Given the description of an element on the screen output the (x, y) to click on. 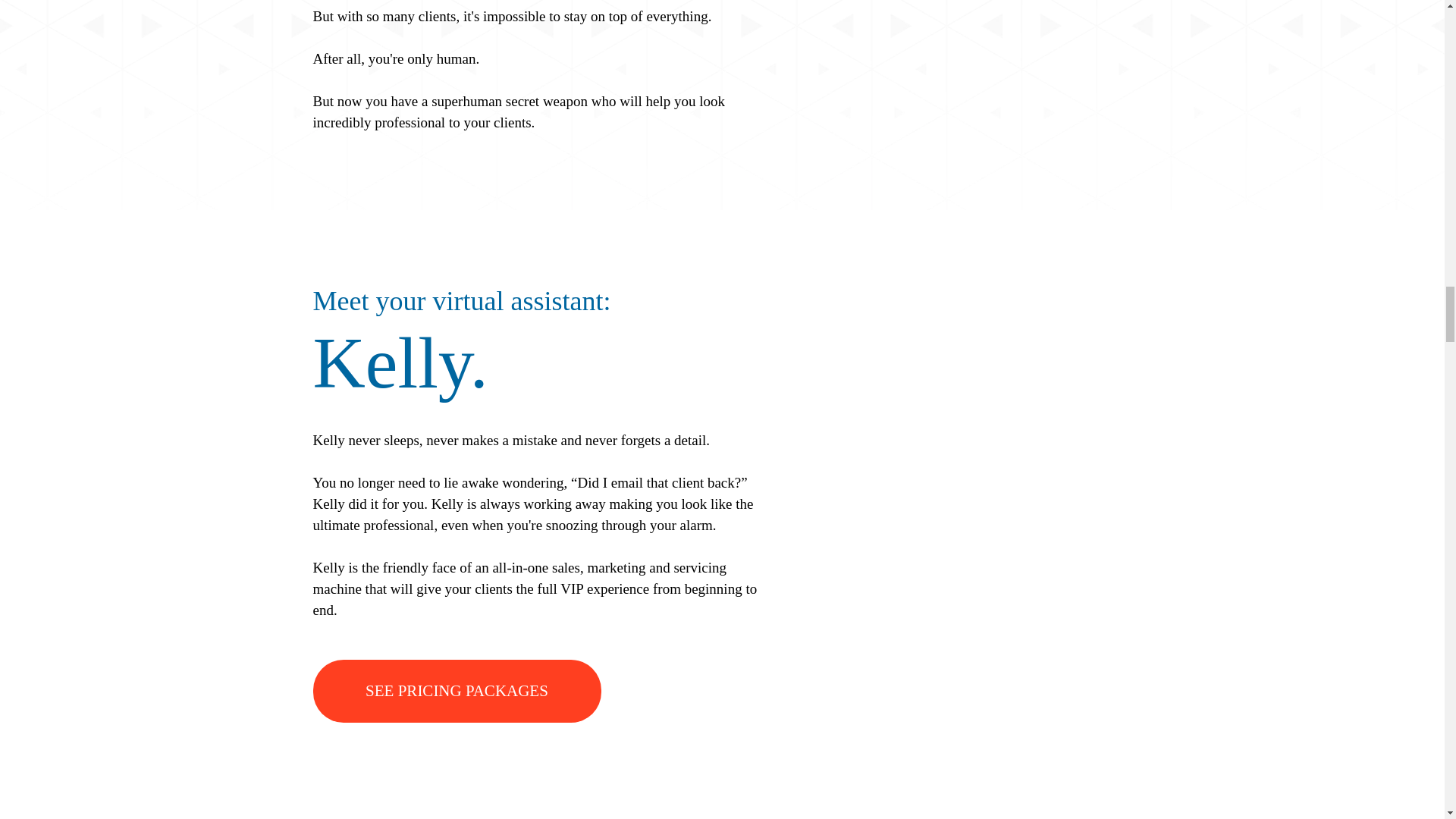
SEE PRICING PACKAGES (456, 691)
